Given the description of an element on the screen output the (x, y) to click on. 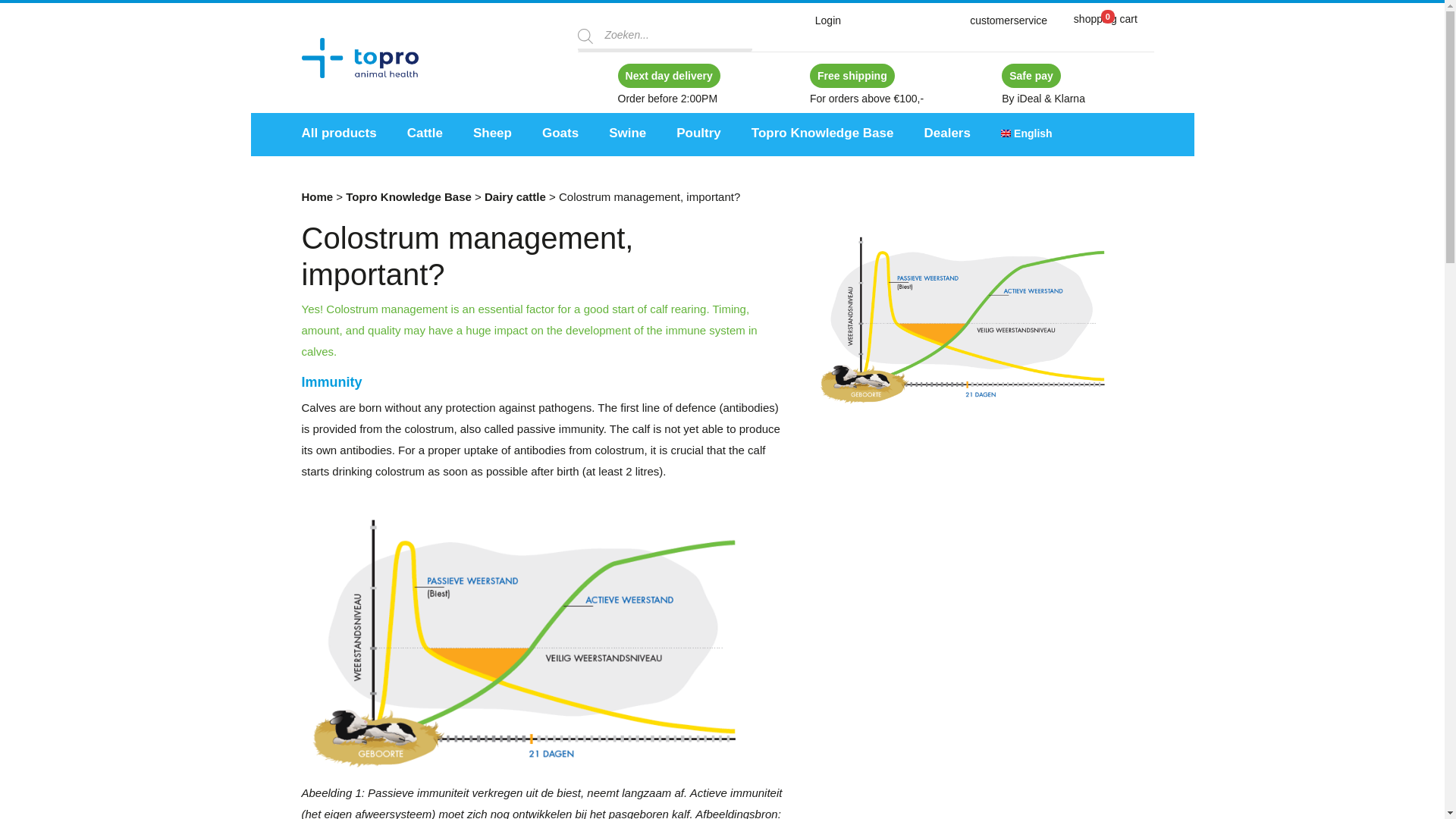
Dealers (946, 133)
Sheep (492, 133)
Login (828, 20)
Cattle (424, 133)
customerservice (1007, 21)
Dairy cattle (515, 196)
View your shopping cart (1104, 19)
Home (317, 196)
Topro Knowledge Base (408, 196)
shopping cart (1104, 19)
